Given the description of an element on the screen output the (x, y) to click on. 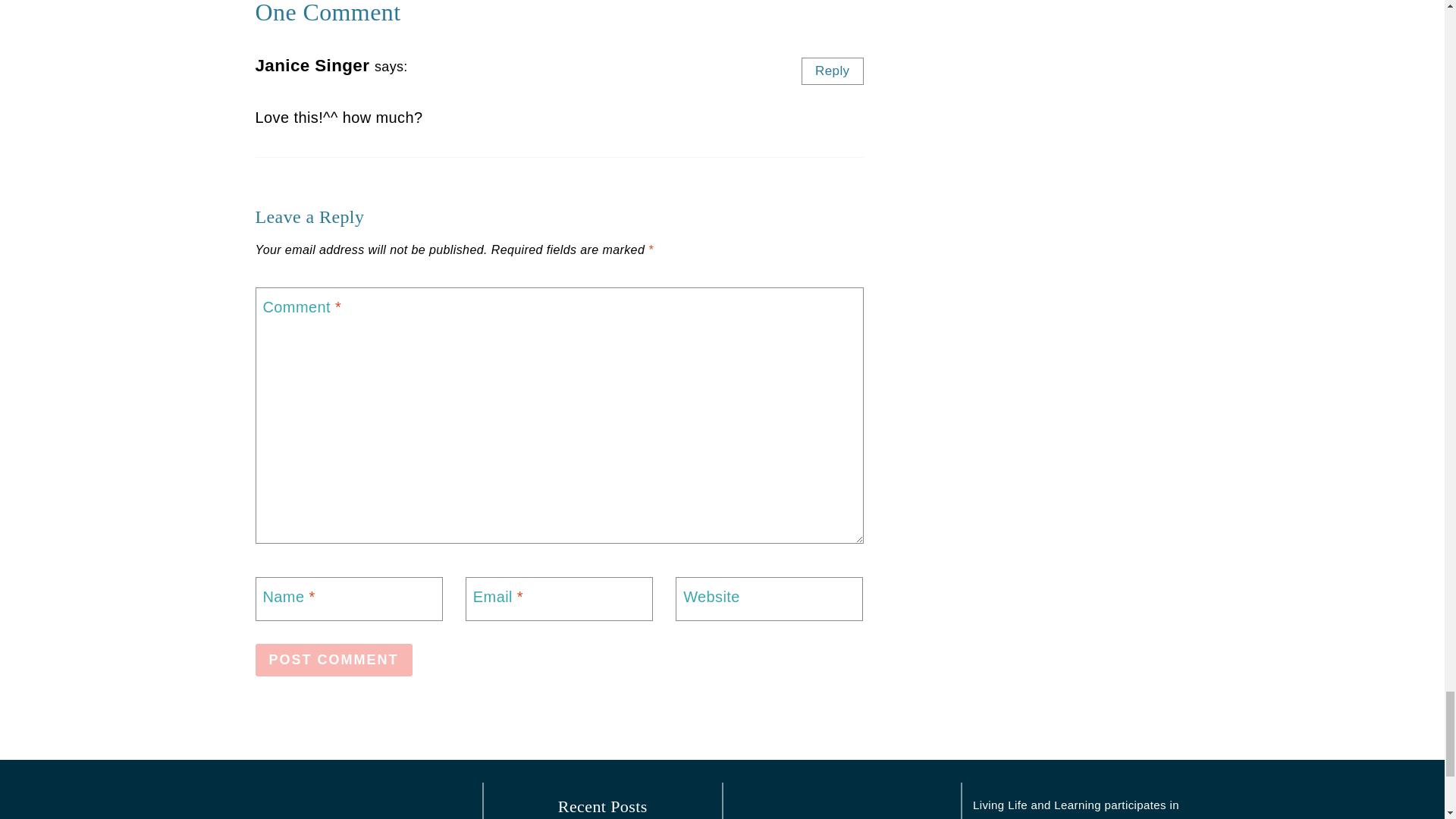
Post Comment (333, 659)
